Given the description of an element on the screen output the (x, y) to click on. 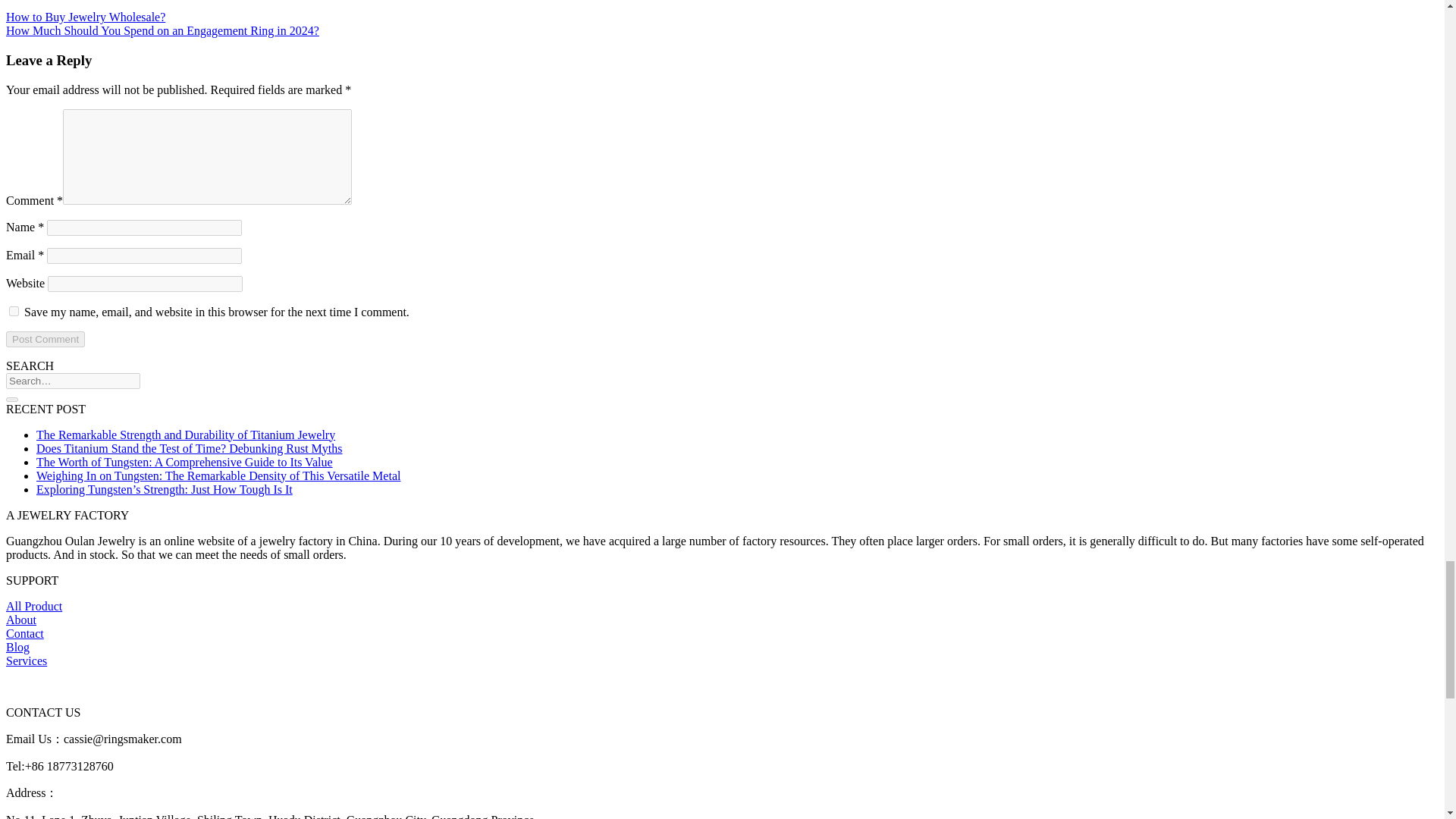
About (20, 618)
The Worth of Tungsten: A Comprehensive Guide to Its Value (184, 461)
The Remarkable Strength and Durability of Titanium Jewelry (185, 433)
How Much Should You Spend on an Engagement Ring in 2024? (161, 30)
Contact (24, 632)
All Product (33, 604)
Services (25, 659)
Does Titanium Stand the Test of Time? Debunking Rust Myths (189, 447)
yes (13, 311)
Post Comment (44, 338)
Blog (17, 645)
Post Comment (44, 338)
How to Buy Jewelry Wholesale? (85, 16)
